Given the description of an element on the screen output the (x, y) to click on. 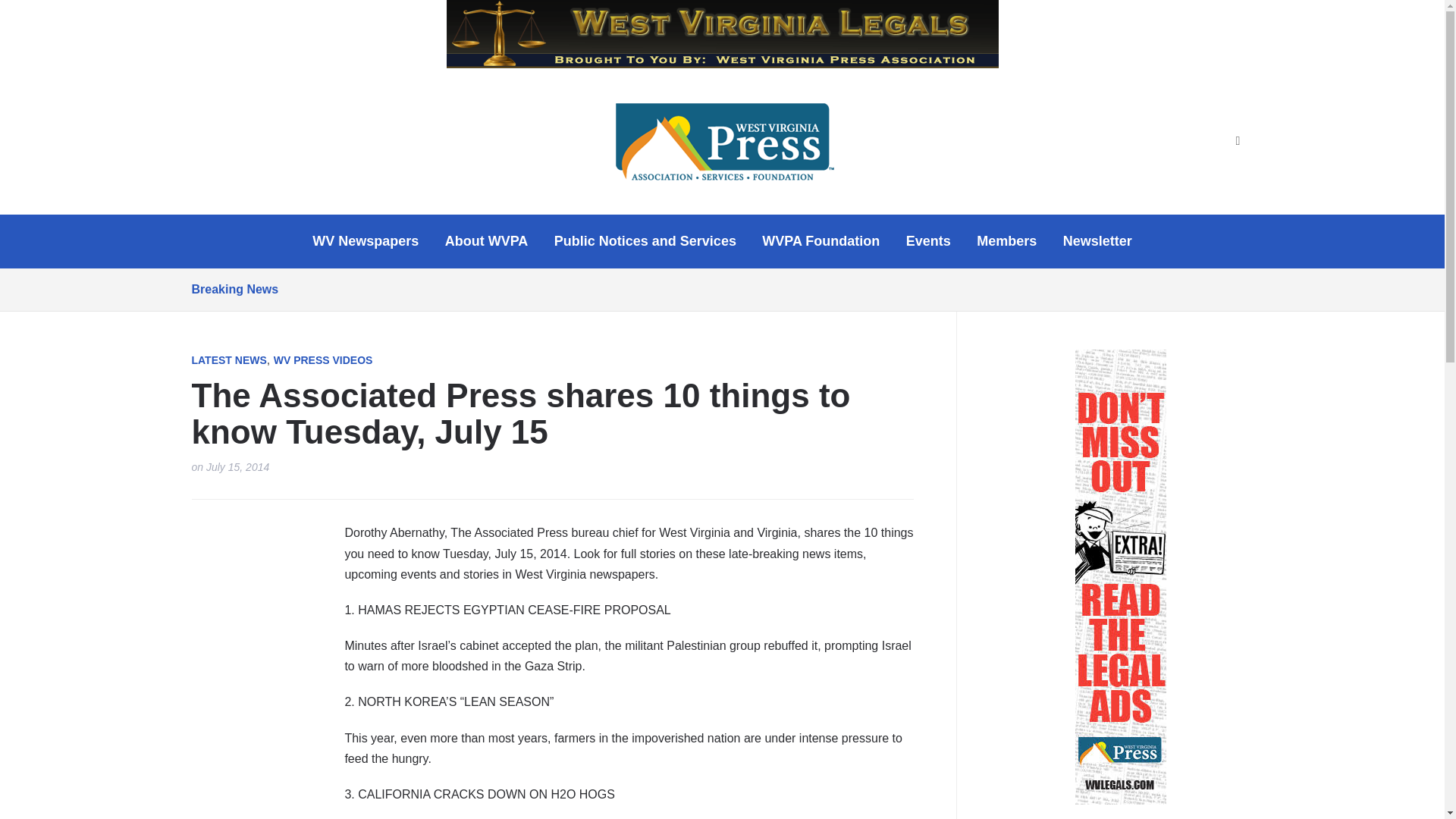
Public Notices and Services (645, 241)
WV Newspapers (366, 241)
About WVPA (486, 241)
Search (1237, 141)
